Given the description of an element on the screen output the (x, y) to click on. 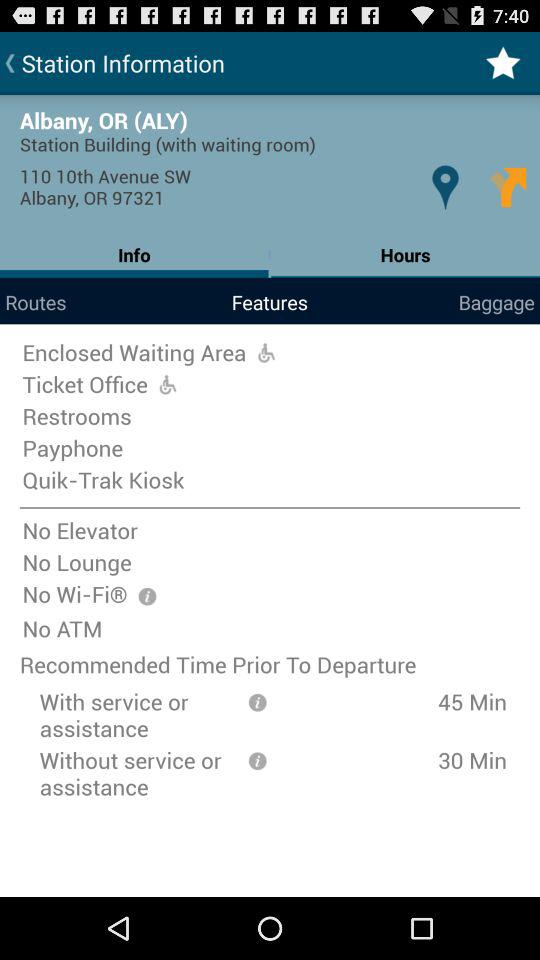
turn off item to the right of the station information item (503, 62)
